Given the description of an element on the screen output the (x, y) to click on. 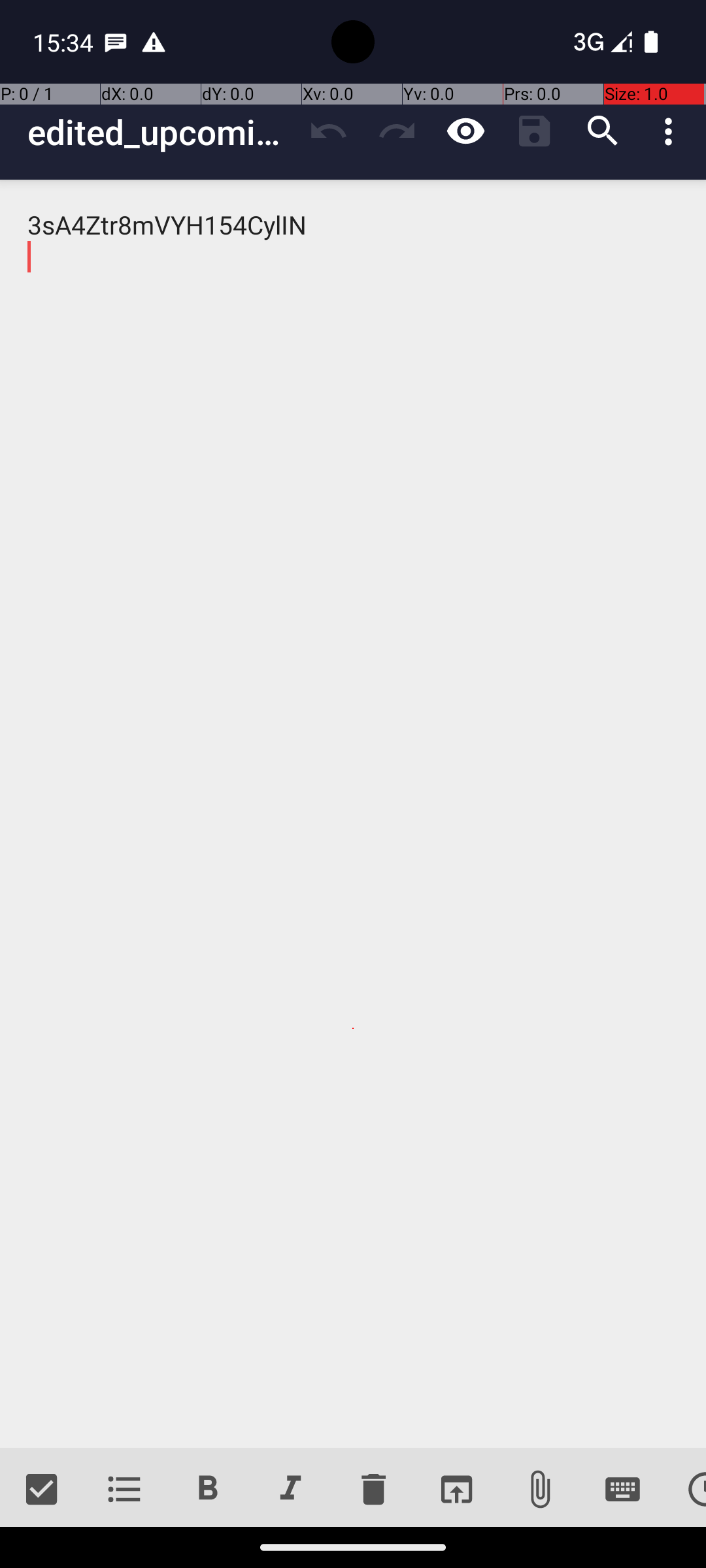
edited_upcoming_presentation_outline Element type: android.widget.TextView (160, 131)
3sA4Ztr8mVYH154CylIN
 Element type: android.widget.EditText (353, 813)
